Given the description of an element on the screen output the (x, y) to click on. 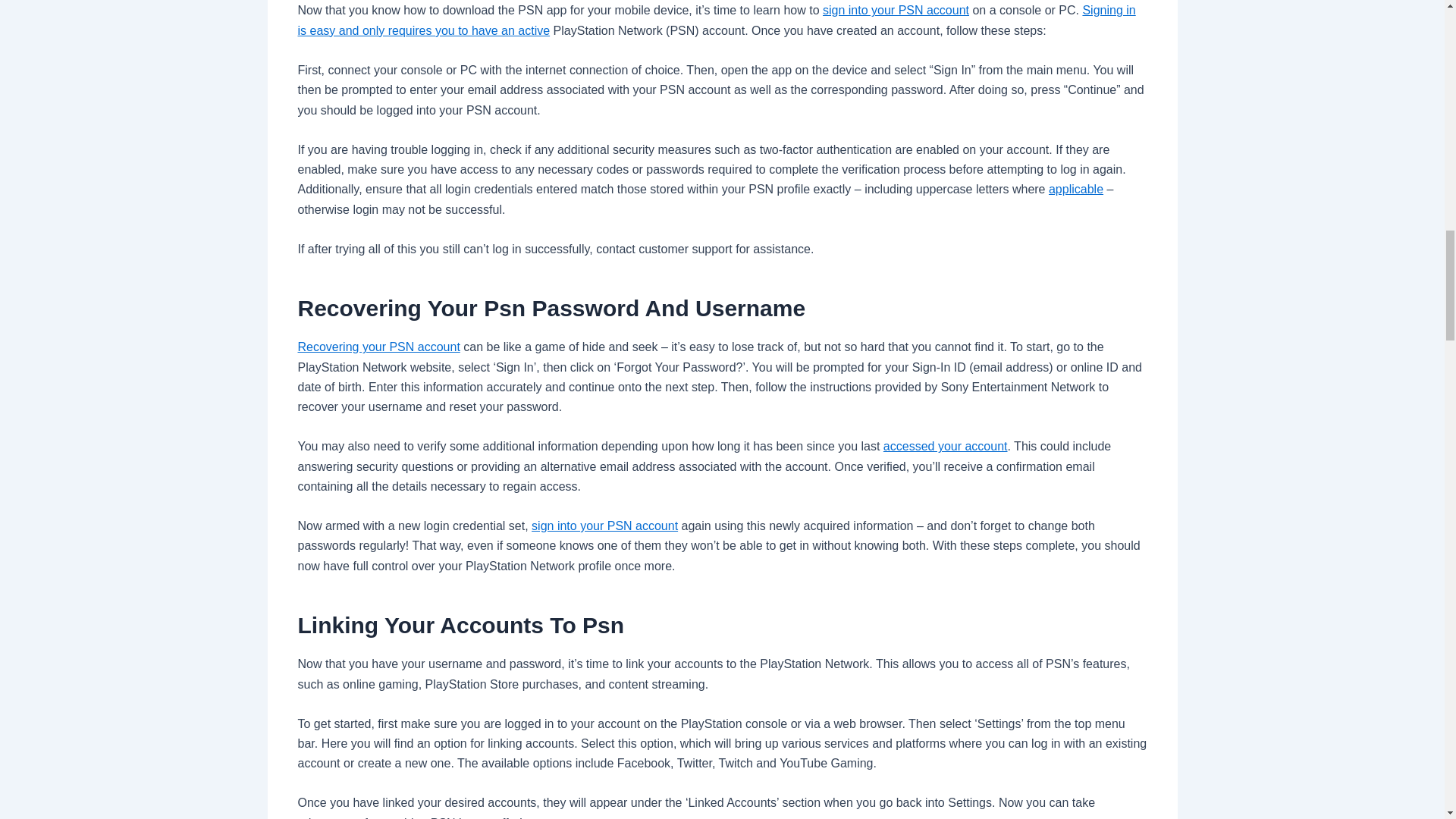
sign into your PSN account (604, 525)
Signing in is easy and only requires you to have an active (716, 20)
sign into your PSN account (895, 10)
accessed your account (945, 445)
Recovering your PSN account (378, 346)
applicable (1075, 188)
